Given the description of an element on the screen output the (x, y) to click on. 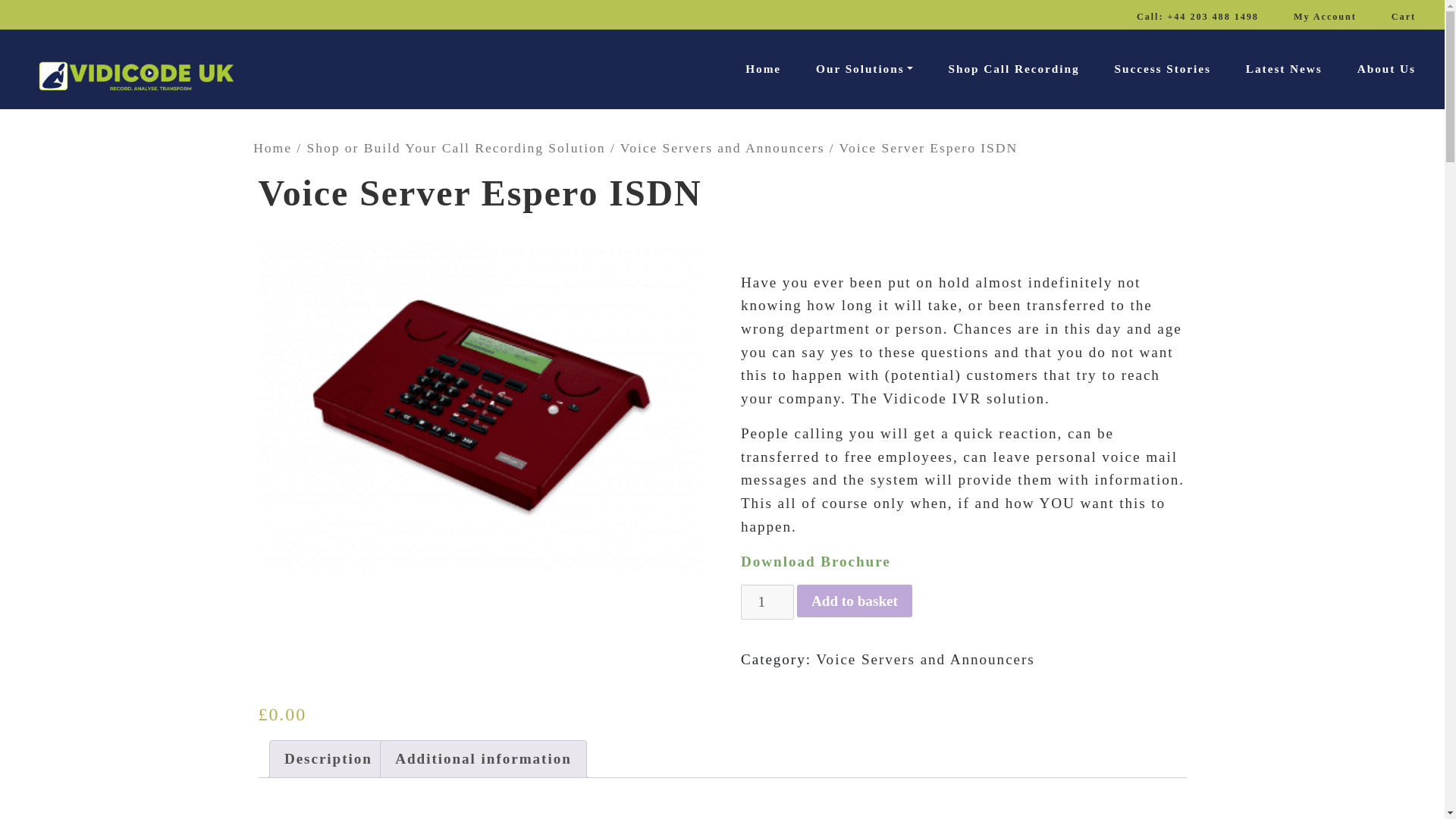
Description (327, 759)
Add to basket (854, 600)
My Account (1324, 16)
About Us (1386, 68)
Our Solutions (863, 68)
Cart (1404, 16)
Shop Call Recording (1013, 68)
Our Solutions (863, 68)
Home (272, 147)
Compliant Call Recording and Speech Analytics Specialists (763, 68)
Voice Servers and Announcers (722, 147)
My Account (1324, 16)
1 (767, 601)
Success Stories (1162, 68)
Additional information (483, 759)
